Given the description of an element on the screen output the (x, y) to click on. 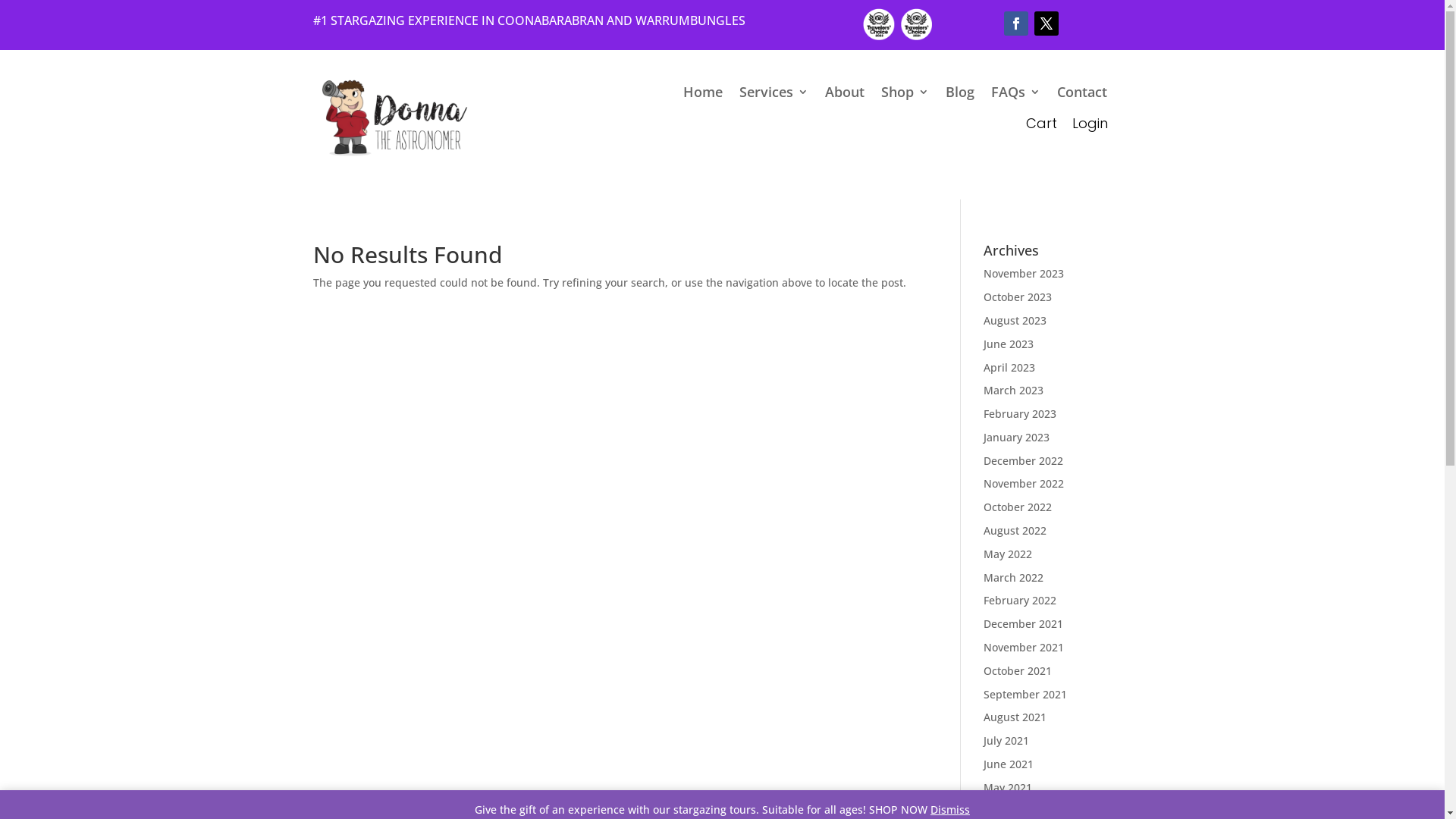
May 2022 Element type: text (1007, 553)
Cart   Element type: text (1045, 122)
April 2021 Element type: text (1009, 810)
FAQs Element type: text (1015, 94)
January 2023 Element type: text (1016, 436)
Follow on X Element type: hover (1046, 23)
June 2023 Element type: text (1008, 343)
October 2022 Element type: text (1017, 506)
April 2023 Element type: text (1009, 366)
Shop Element type: text (904, 94)
February 2022 Element type: text (1019, 600)
October 2021 Element type: text (1017, 670)
February 2023 Element type: text (1019, 413)
Home Element type: text (702, 94)
June 2021 Element type: text (1008, 763)
August 2023 Element type: text (1014, 320)
December 2022 Element type: text (1023, 460)
March 2022 Element type: text (1013, 577)
March 2023 Element type: text (1013, 389)
Services Element type: text (773, 94)
August 2021 Element type: text (1014, 716)
October 2023 Element type: text (1017, 296)
May 2021 Element type: text (1007, 787)
August 2022 Element type: text (1014, 530)
December 2021 Element type: text (1023, 623)
November 2021 Element type: text (1023, 647)
Contact Element type: text (1082, 94)
November 2023 Element type: text (1023, 273)
Dismiss Element type: text (949, 809)
Blog Element type: text (959, 94)
November 2022 Element type: text (1023, 483)
Untitled-design-50 Element type: hover (894, 24)
Login Element type: text (1089, 122)
September 2021 Element type: text (1024, 694)
Follow on Facebook Element type: hover (1016, 23)
About Element type: text (844, 94)
Donna Logo Element type: hover (392, 119)
July 2021 Element type: text (1006, 740)
